Given the description of an element on the screen output the (x, y) to click on. 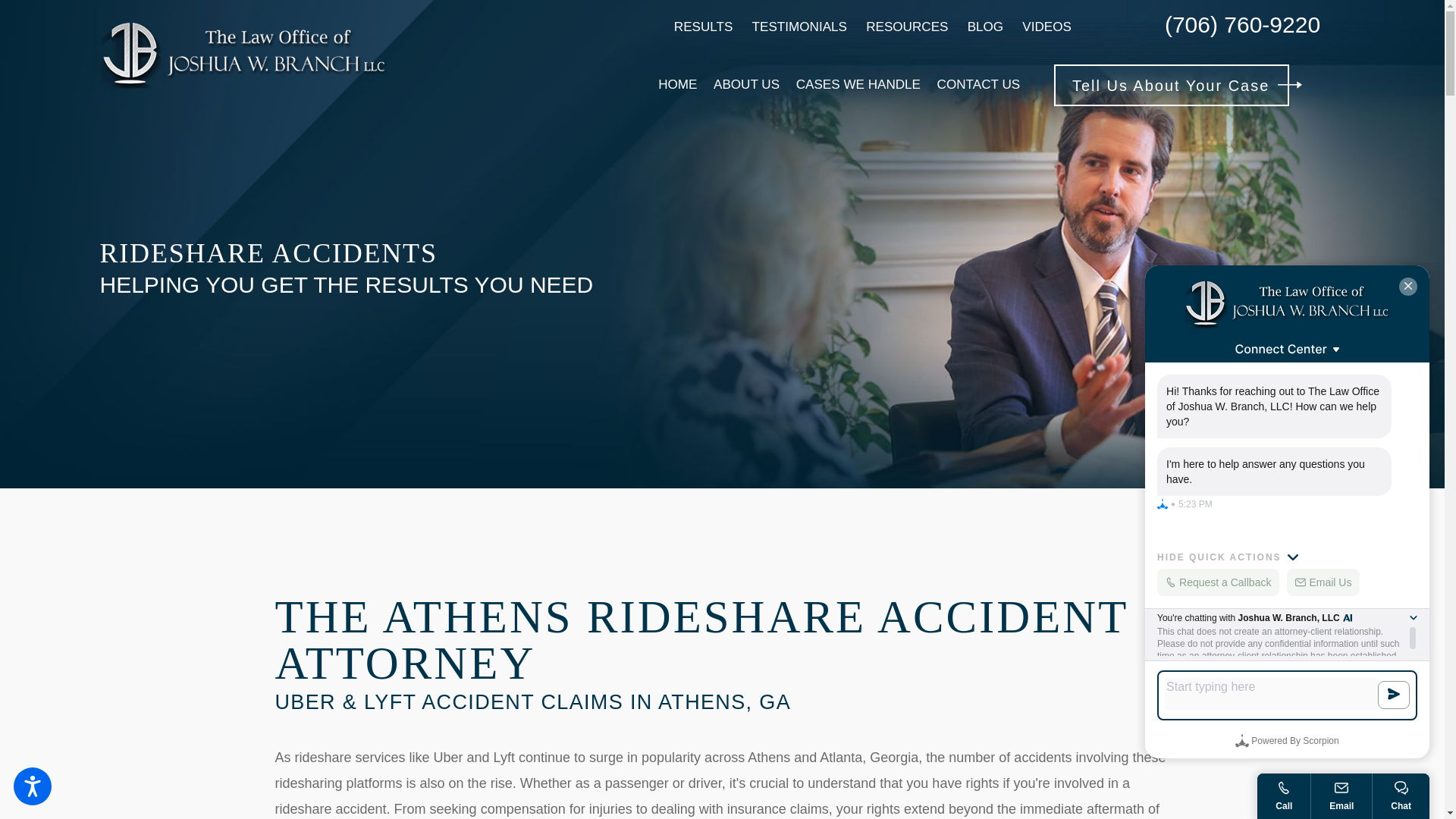
TESTIMONIALS (799, 26)
Open the accessibility options menu (31, 786)
The Law Office of Joshua W. Branch, LLC (244, 55)
BLOG (986, 26)
VIDEOS (1046, 26)
HOME (677, 85)
RESULTS (703, 26)
CASES WE HANDLE (858, 85)
RESOURCES (906, 26)
ABOUT US (745, 85)
